Given the description of an element on the screen output the (x, y) to click on. 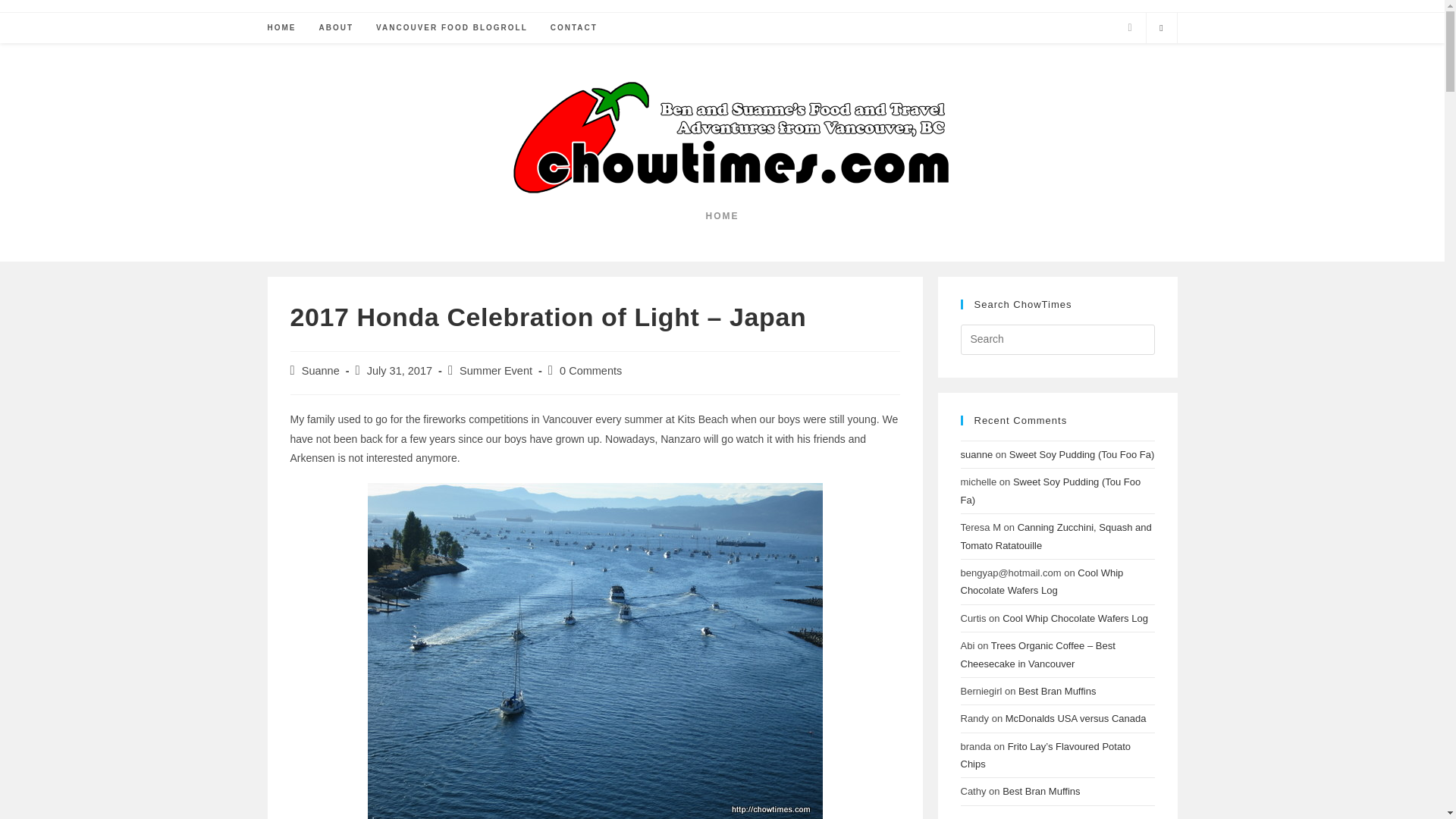
VANCOUVER FOOD BLOGROLL (451, 28)
Summer Event (496, 370)
Suanne (320, 370)
Posts by Suanne (320, 370)
Canning Zucchini, Squash and Tomato Ratatouille (1055, 535)
HOME (281, 28)
Cool Whip Chocolate Wafers Log (1040, 581)
ABOUT (336, 28)
suanne (975, 454)
0 Comments (590, 370)
